Given the description of an element on the screen output the (x, y) to click on. 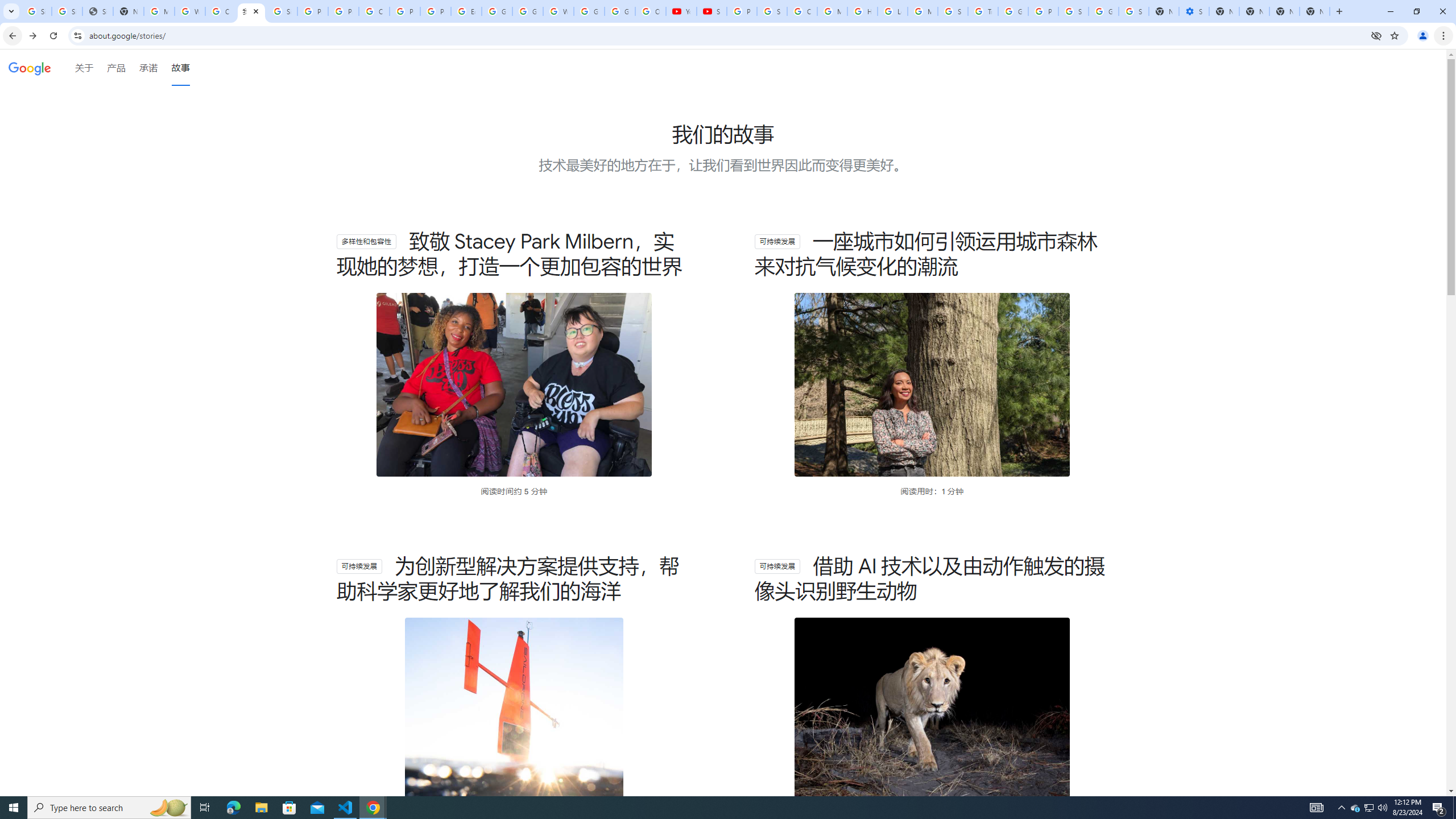
YouTube (681, 11)
Third-party cookies blocked (1376, 35)
Welcome to My Activity (558, 11)
Google Ads - Sign in (1012, 11)
